Given the description of an element on the screen output the (x, y) to click on. 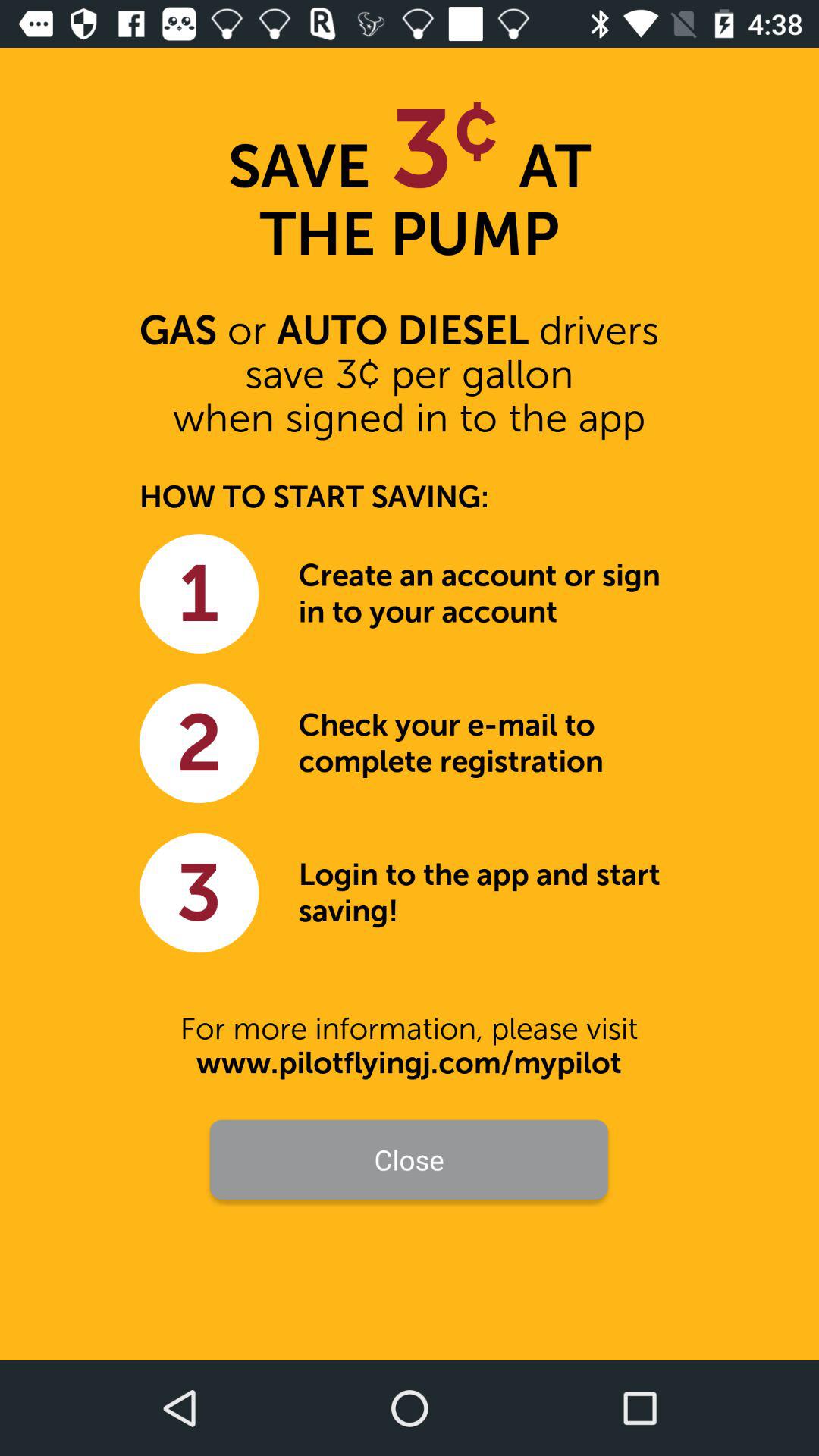
turn on the item above already have an icon (409, 1230)
